Given the description of an element on the screen output the (x, y) to click on. 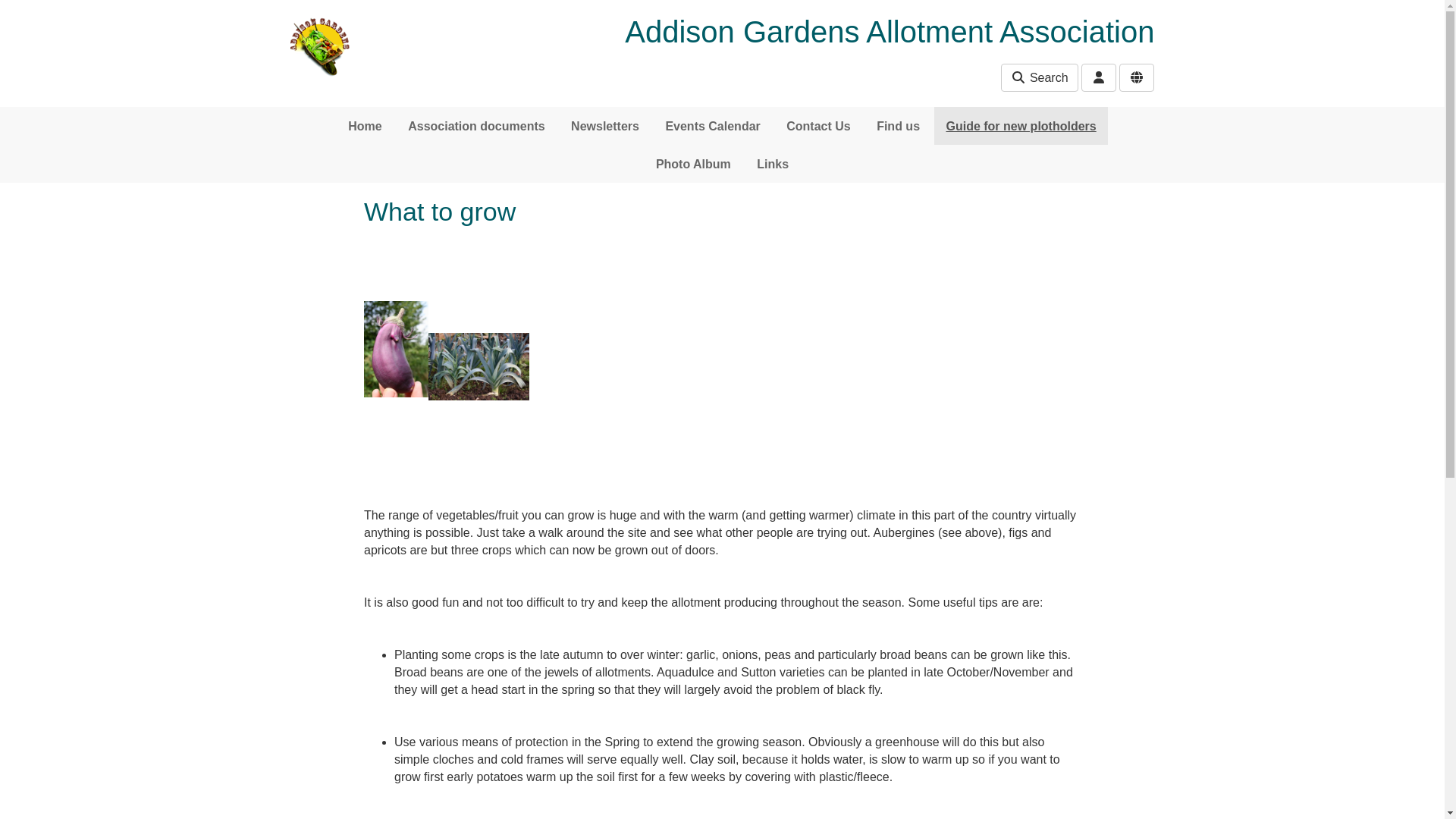
Site membership menu (1136, 77)
Site membership menu (1136, 77)
Site membership menu (1136, 77)
Newsletters (604, 125)
Links (772, 163)
Photo Album (693, 163)
Guide for new plotholders (1020, 125)
User menu (1098, 77)
Contact Us (817, 125)
Search (1039, 77)
